Given the description of an element on the screen output the (x, y) to click on. 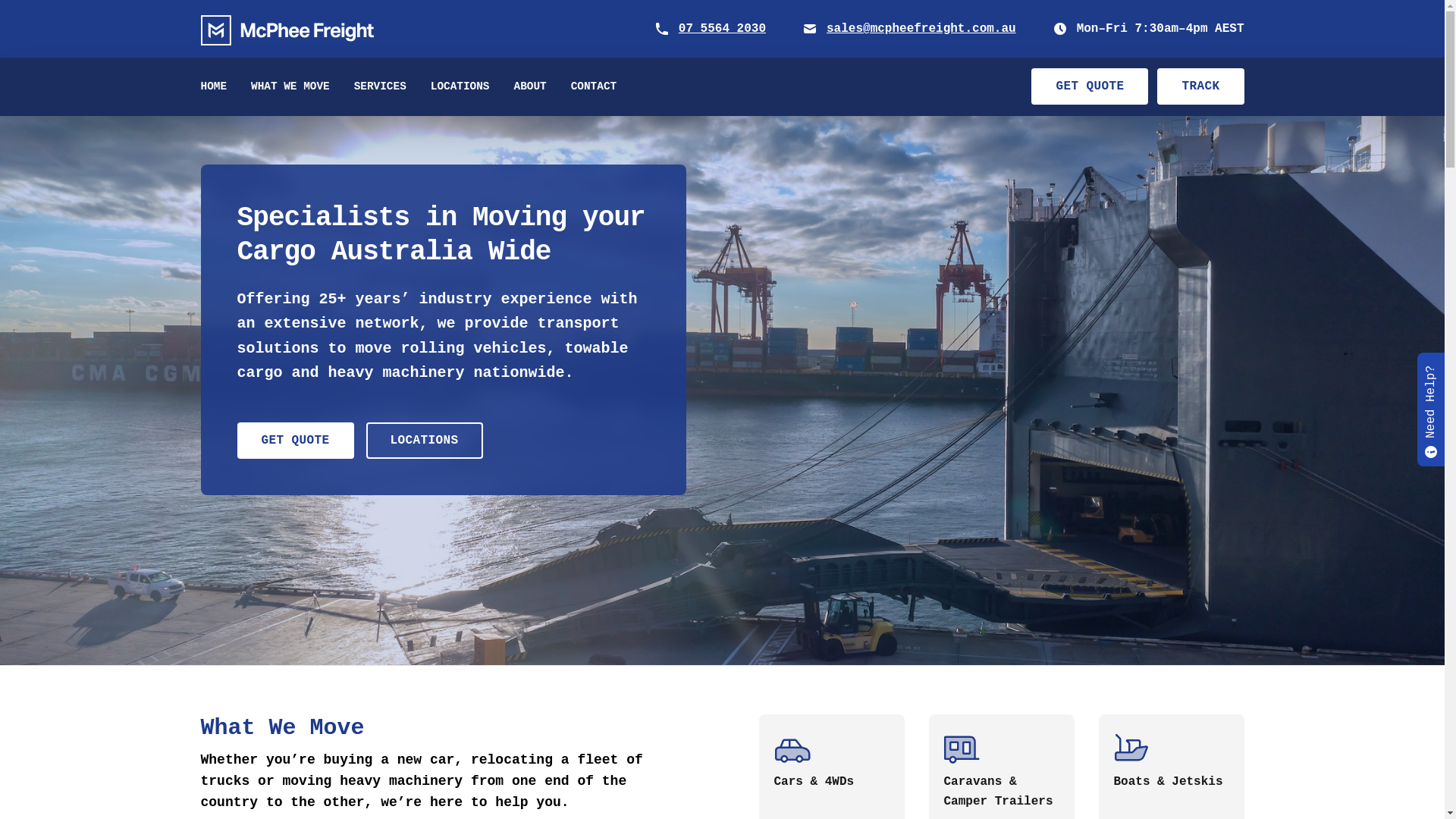
TRACK Element type: text (1200, 86)
ABOUT Element type: text (530, 86)
07 5564 2030 Element type: text (721, 28)
LOCATIONS Element type: text (459, 86)
HOME Element type: text (213, 86)
GET QUOTE Element type: text (1089, 86)
What We Move Element type: text (442, 727)
sales@mcpheefreight.com.au Element type: text (921, 28)
WHAT WE MOVE Element type: text (290, 86)
LOCATIONS Element type: text (424, 440)
SERVICES Element type: text (380, 86)
GET QUOTE Element type: text (294, 440)
CONTACT Element type: text (593, 86)
